Given the description of an element on the screen output the (x, y) to click on. 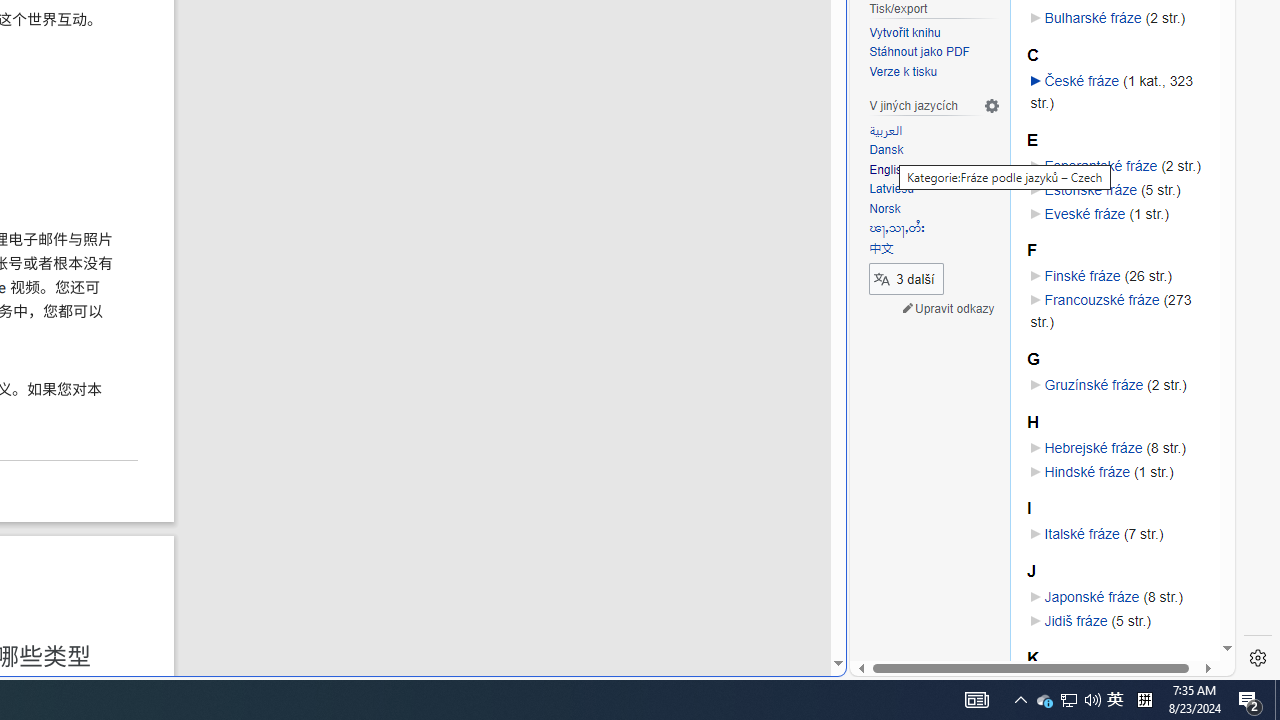
English (888, 169)
Actions for this site (1129, 306)
Norsk (934, 209)
google_privacy_policy_zh-CN.pdf (687, 482)
